Given the description of an element on the screen output the (x, y) to click on. 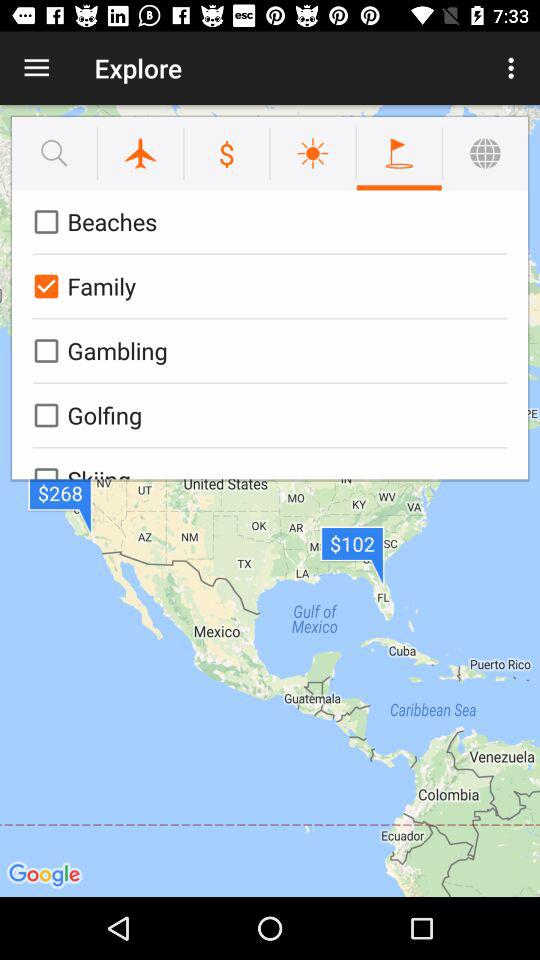
scroll until the gambling item (266, 350)
